Given the description of an element on the screen output the (x, y) to click on. 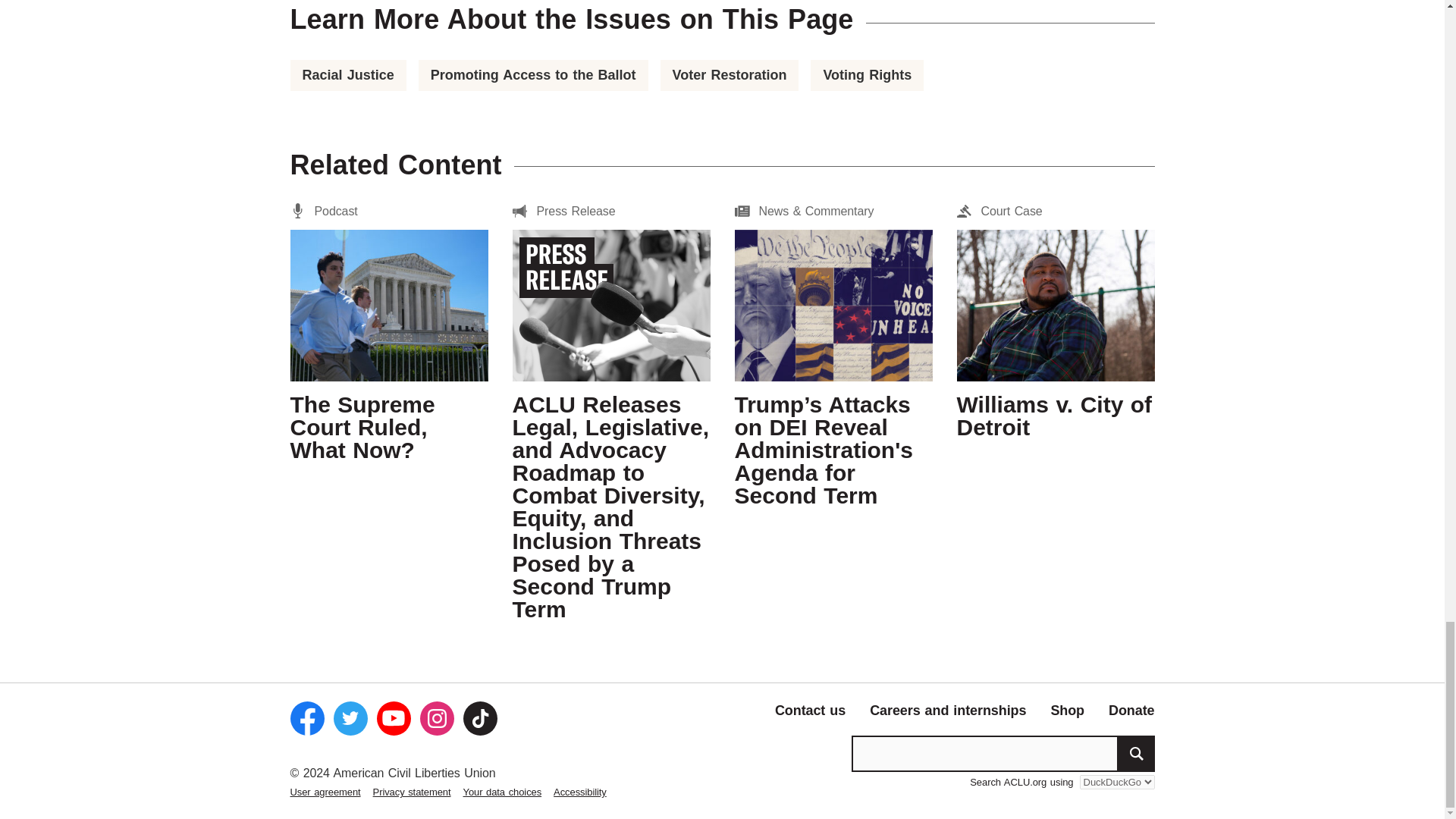
Follow the ACLU on Facebook (306, 718)
Follow the ACLU on Twitter (350, 718)
search (1136, 753)
Follow the ACLU on YouTube (392, 718)
Follow the ACLU on TikTok (479, 718)
Follow the ACLU on Instagram (437, 718)
